Given the description of an element on the screen output the (x, y) to click on. 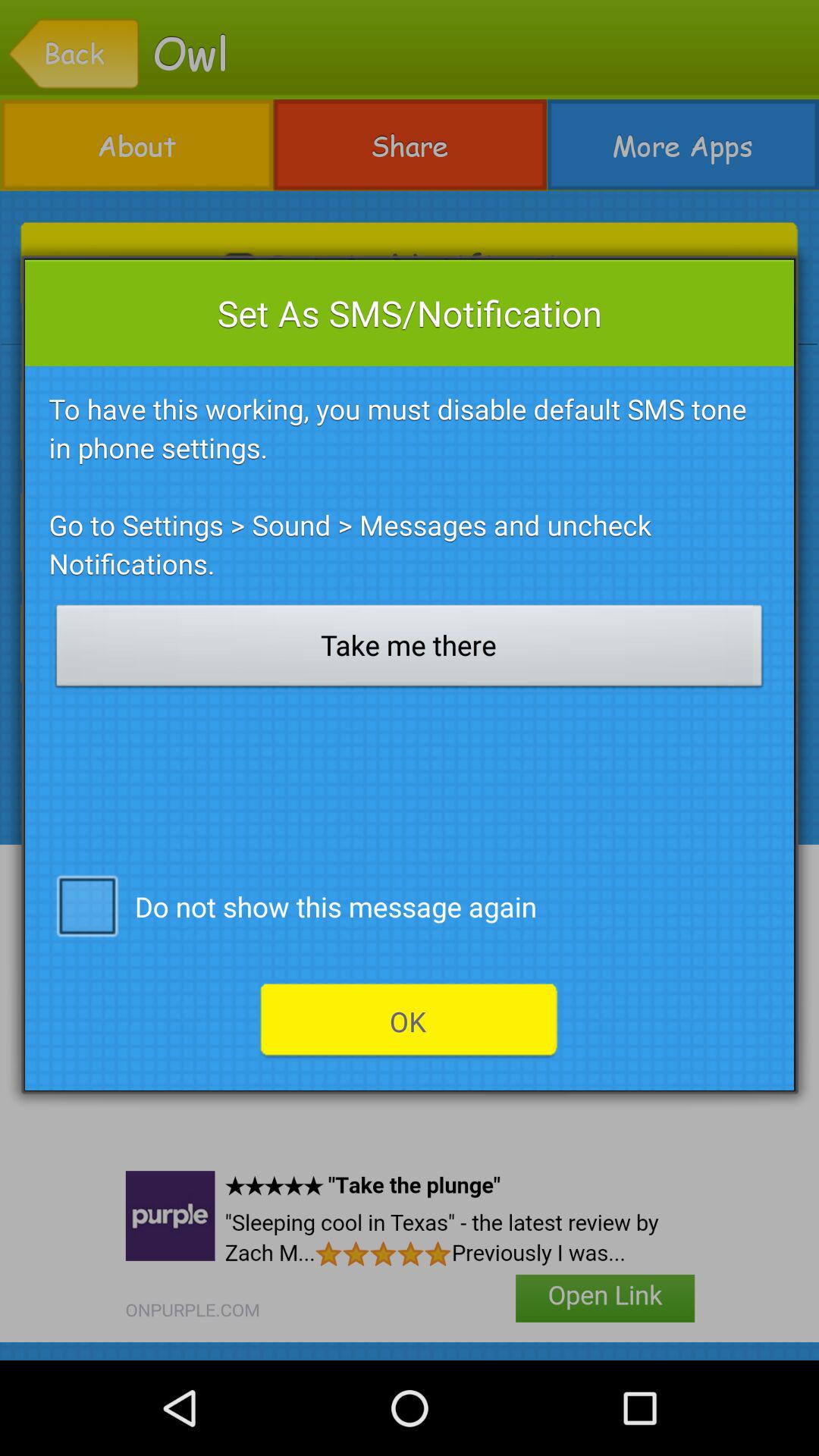
choose item below the take me there icon (86, 904)
